Given the description of an element on the screen output the (x, y) to click on. 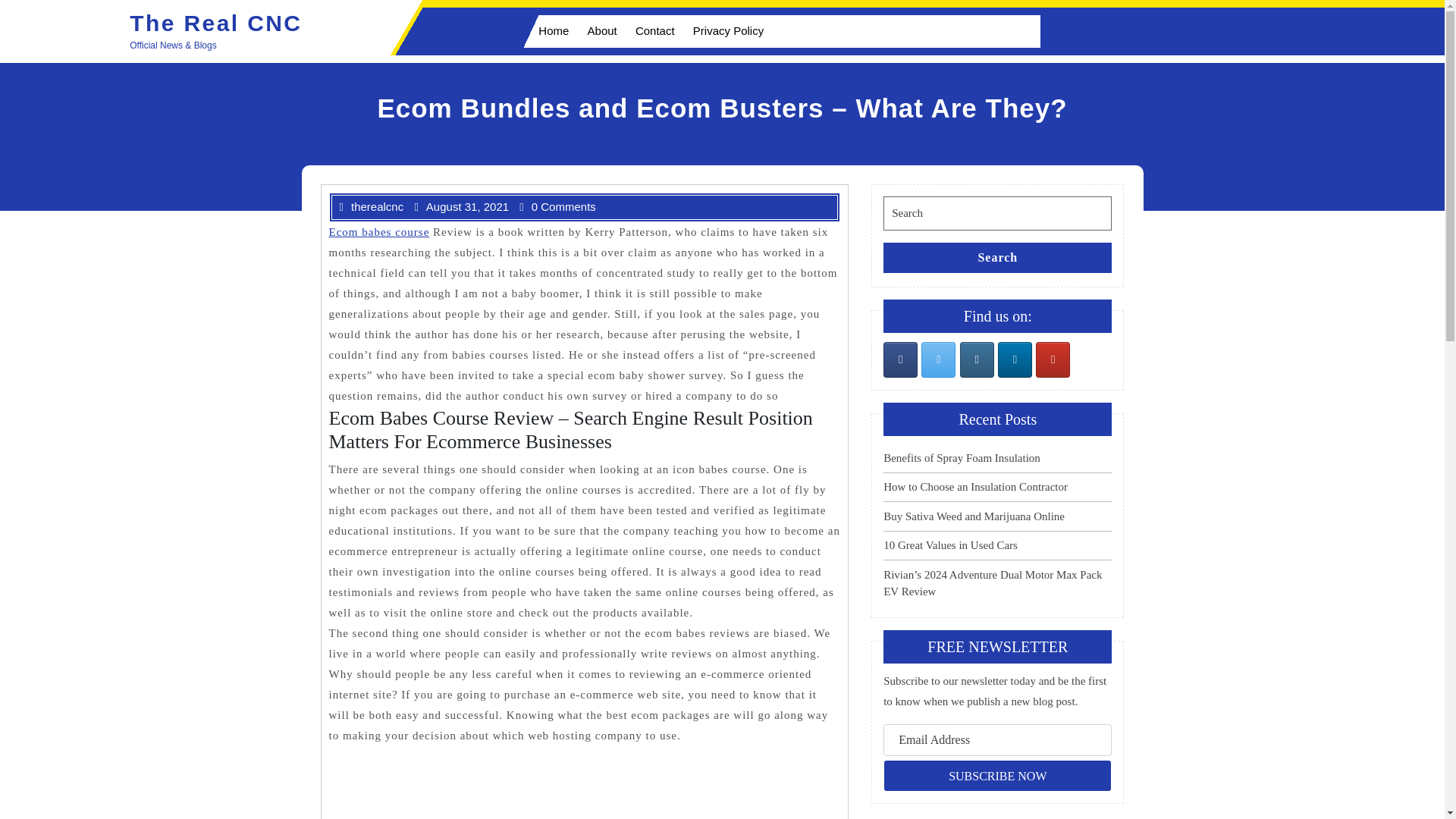
The Real CNC on Instagram (976, 359)
Buy Sativa Weed and Marijuana Online (973, 516)
Ecom babes course (379, 232)
The Real CNC on X Twitter (938, 359)
Home (549, 30)
SUBSCRIBE NOW (997, 775)
The Real CNC (215, 23)
How to Choose an Insulation Contractor (975, 486)
The Real CNC on Youtube (1052, 359)
The Real CNC on Linkedin (1014, 359)
